Given the description of an element on the screen output the (x, y) to click on. 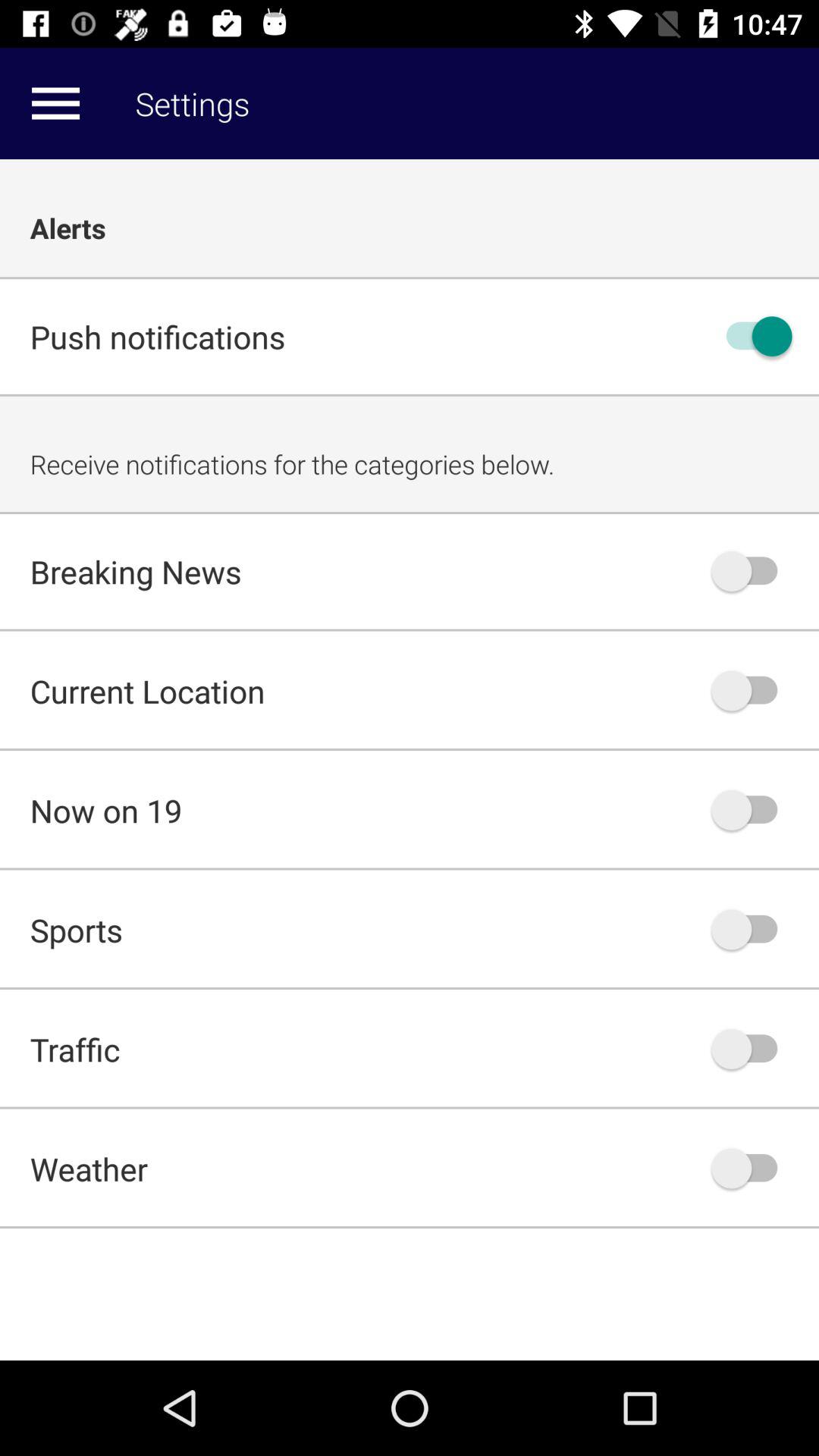
select menu (55, 103)
